Given the description of an element on the screen output the (x, y) to click on. 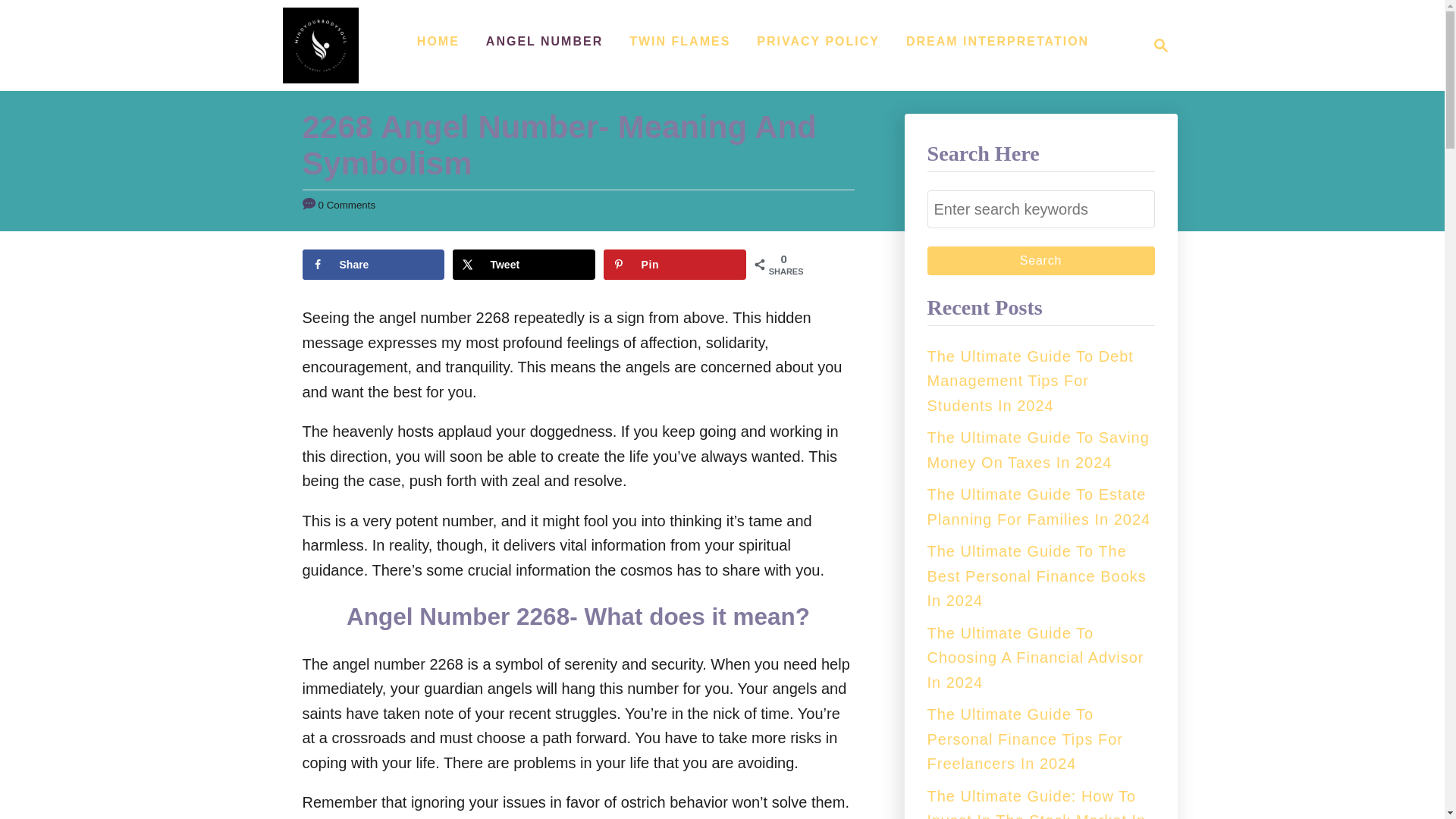
The Ultimate Guide To Choosing A Financial Advisor In 2024 (1155, 45)
Search for: (1034, 657)
Pin (1040, 209)
Share (674, 264)
The Ultimate Guide To Saving Money On Taxes In 2024 (372, 264)
PRIVACY POLICY (1037, 449)
Mind Your Body Soul (817, 41)
